Given the description of an element on the screen output the (x, y) to click on. 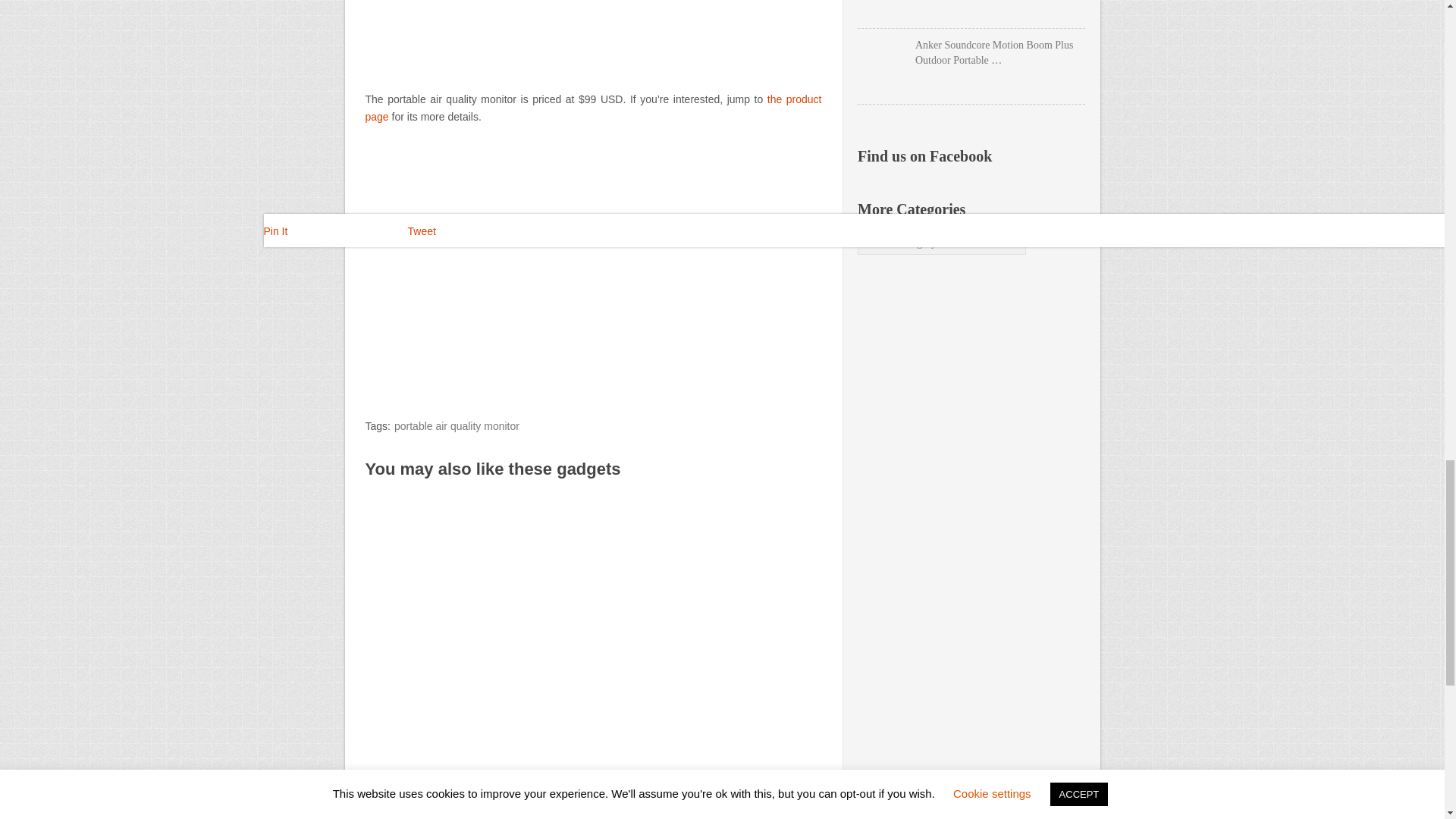
portable air quality monitor (456, 426)
YouTube video player (593, 35)
Advertisement (593, 627)
Advertisement (593, 265)
Advertisement (593, 799)
the product page (593, 107)
